Given the description of an element on the screen output the (x, y) to click on. 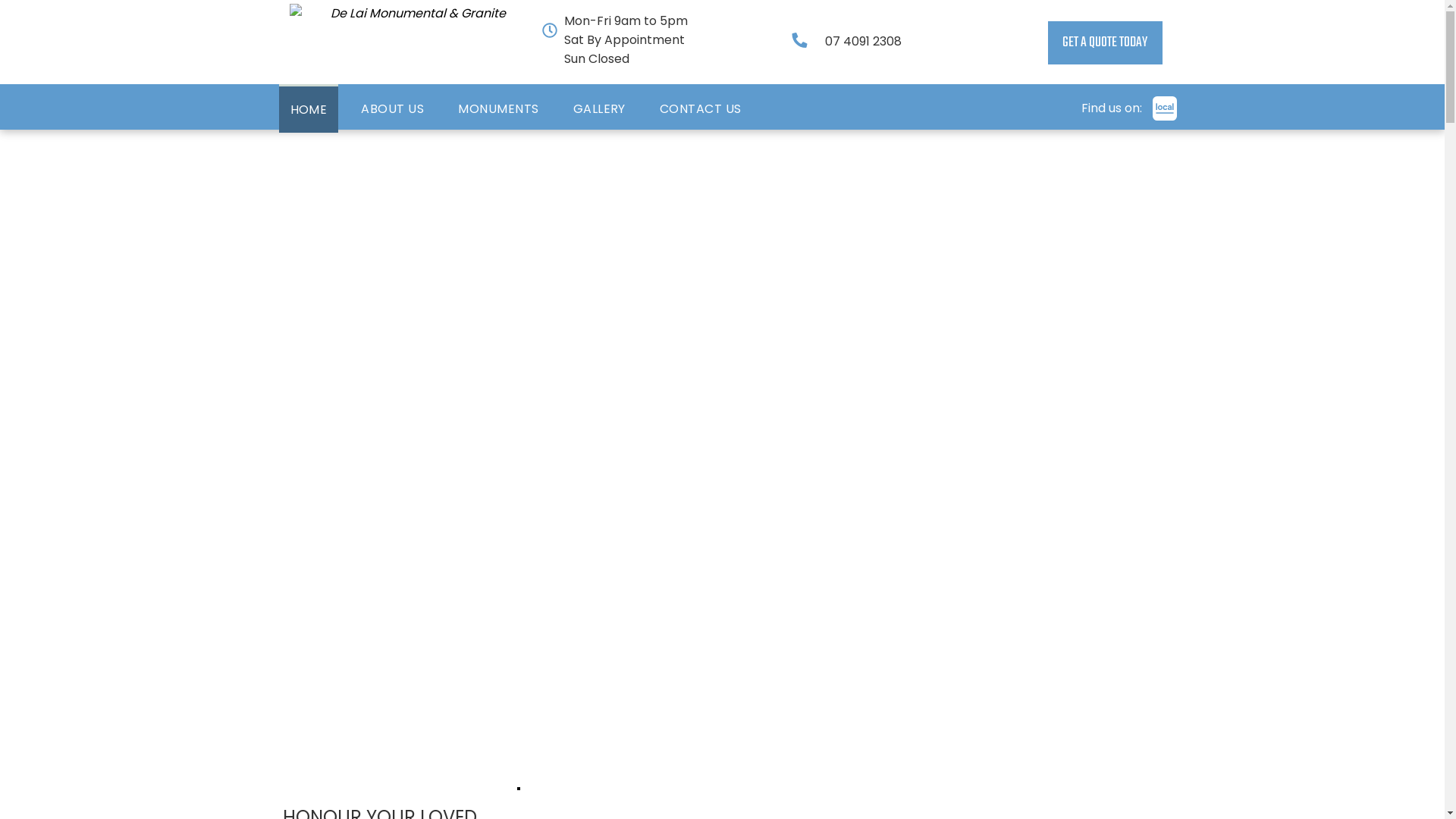
HOME Element type: text (308, 108)
GALLERY Element type: text (599, 108)
ABOUT US Element type: text (392, 108)
CONTACT US Element type: text (700, 108)
MONUMENTS Element type: text (497, 108)
De Lai Monumental & Granite Element type: hover (411, 41)
07 4091 2308 Element type: text (863, 41)
GET A QUOTE TODAY Element type: text (1105, 42)
